Given the description of an element on the screen output the (x, y) to click on. 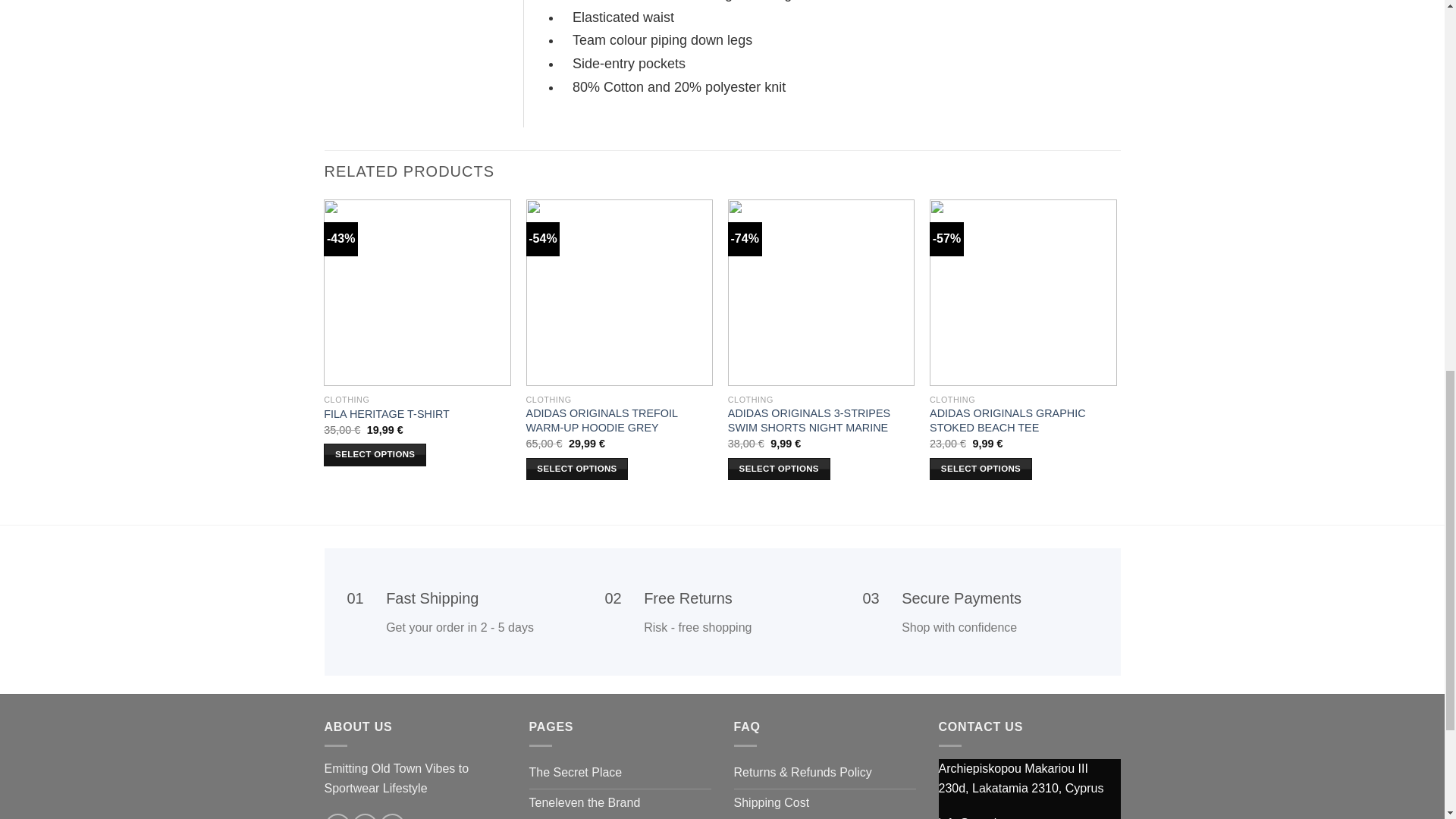
ADDITIONAL INFORMATION (424, 2)
